Given the description of an element on the screen output the (x, y) to click on. 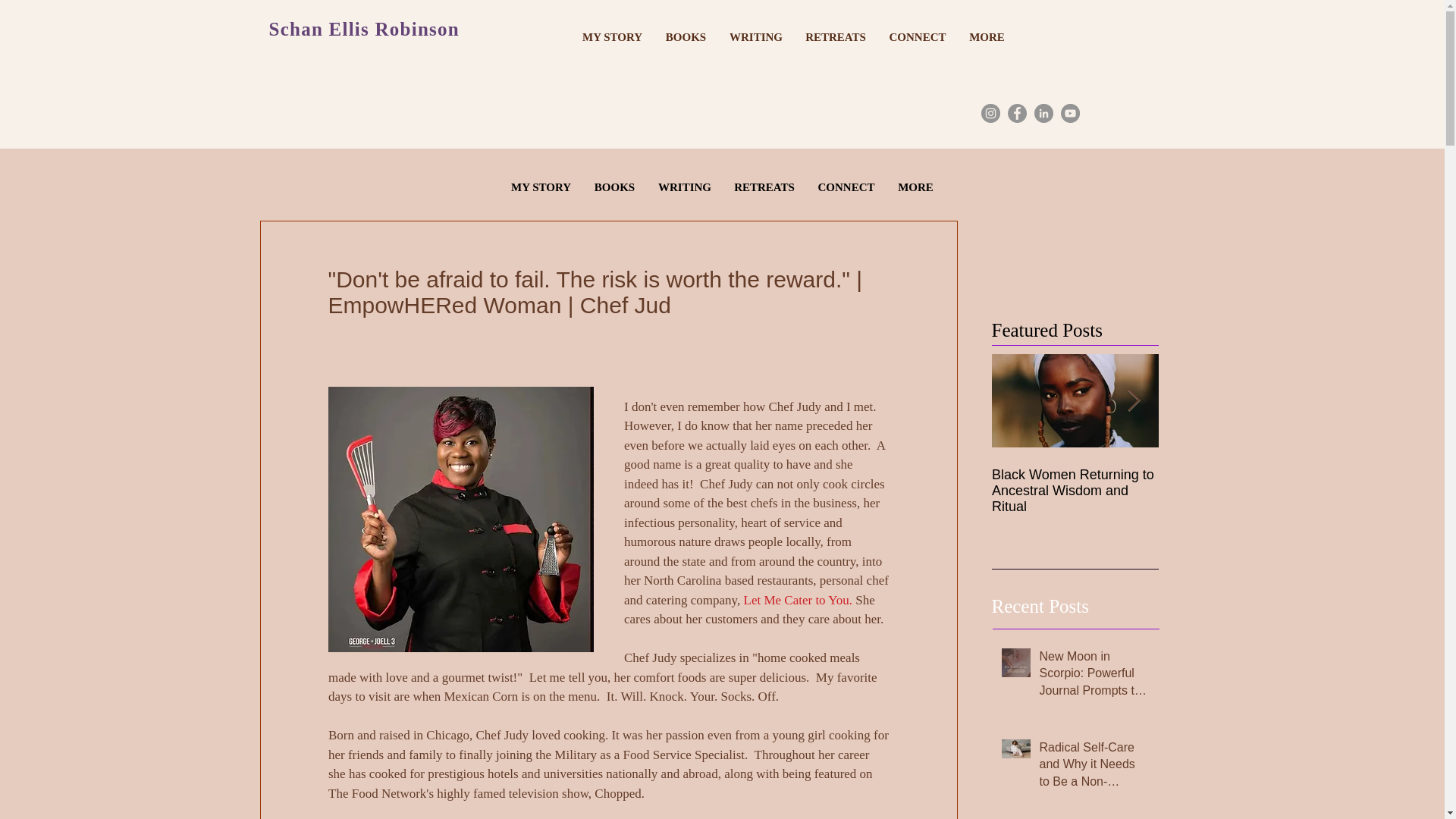
MY STORY (611, 36)
WRITING (755, 36)
MY STORY (540, 187)
RETREATS (835, 36)
Black Women Returning to Ancestral Wisdom and Ritual (1074, 490)
Let Me Cater to You. (796, 599)
Schan Ellis Robinson (363, 28)
RETREATS (764, 187)
BOOKS (614, 187)
WRITING (684, 187)
BOOKS (685, 36)
CONNECT (846, 187)
CONNECT (917, 36)
